Given the description of an element on the screen output the (x, y) to click on. 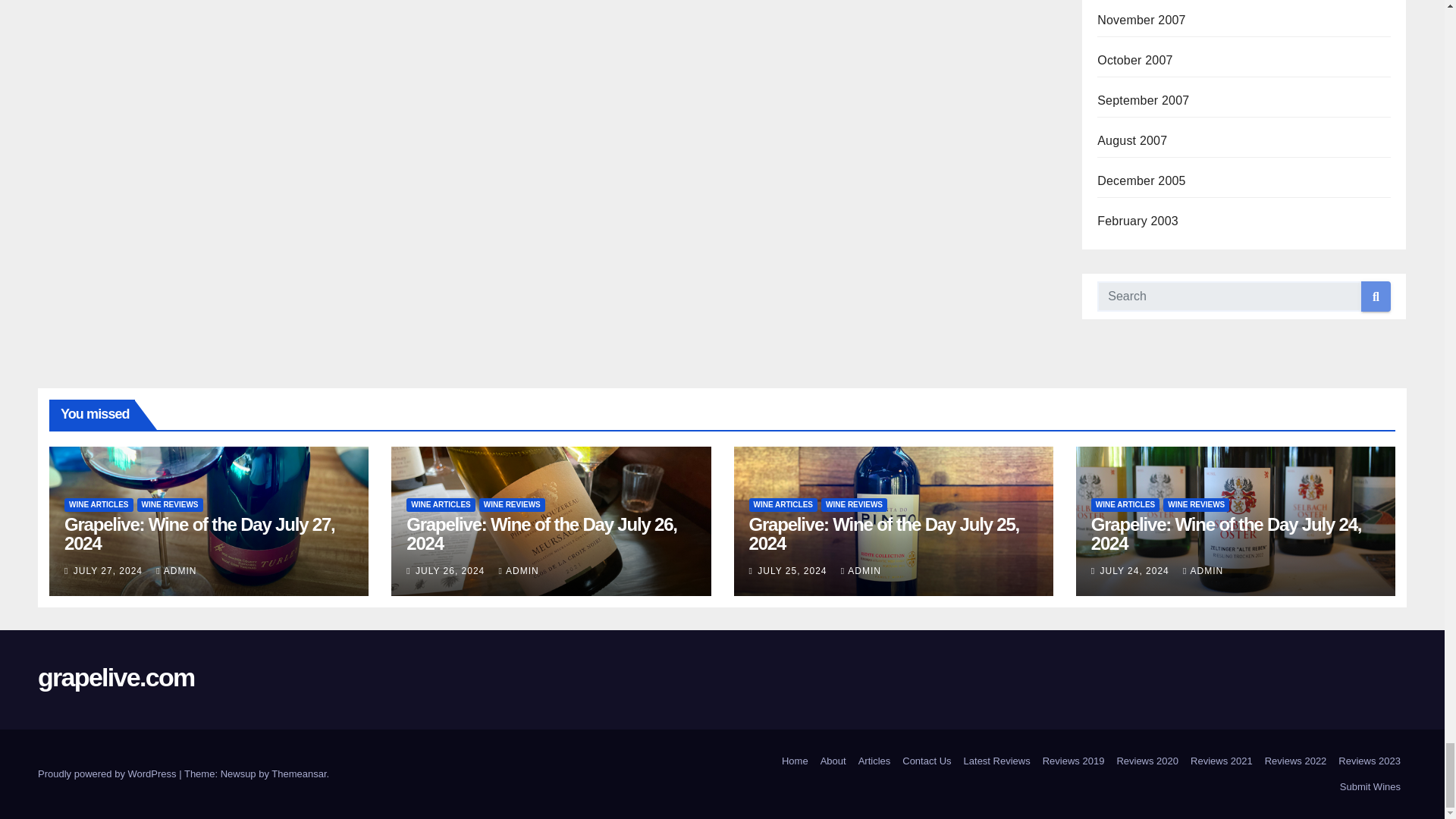
Permalink to: Grapelive: Wine of the Day July 27, 2024 (199, 533)
